Given the description of an element on the screen output the (x, y) to click on. 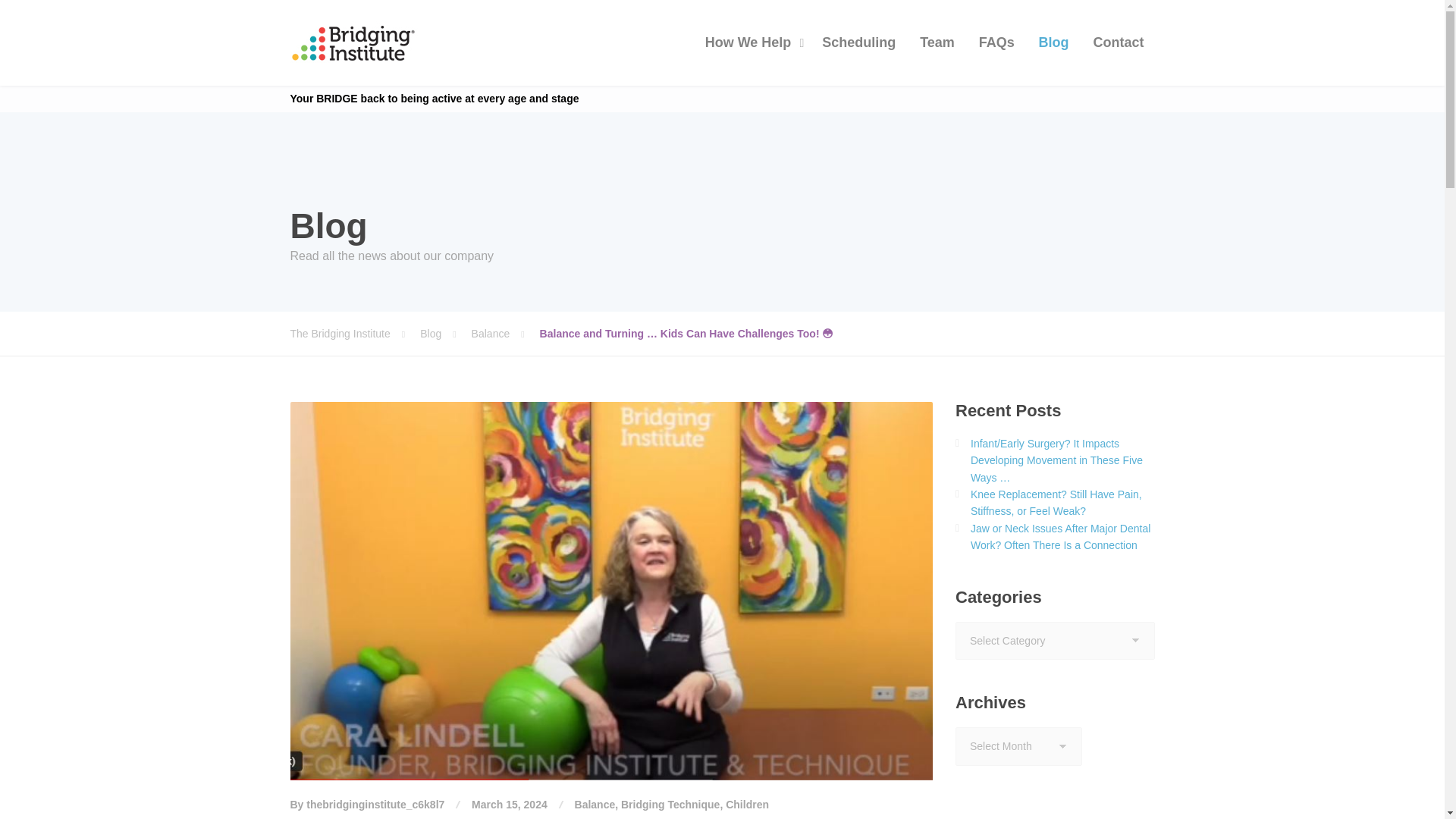
Bridging Technique (670, 804)
Go to Blog. (445, 333)
Go to The Bridging Institute. (354, 333)
Children (746, 804)
How We Help (751, 42)
Go to the Balance Category archives. (505, 333)
Blog (445, 333)
Balance (505, 333)
The Bridging Institute (354, 42)
